Given the description of an element on the screen output the (x, y) to click on. 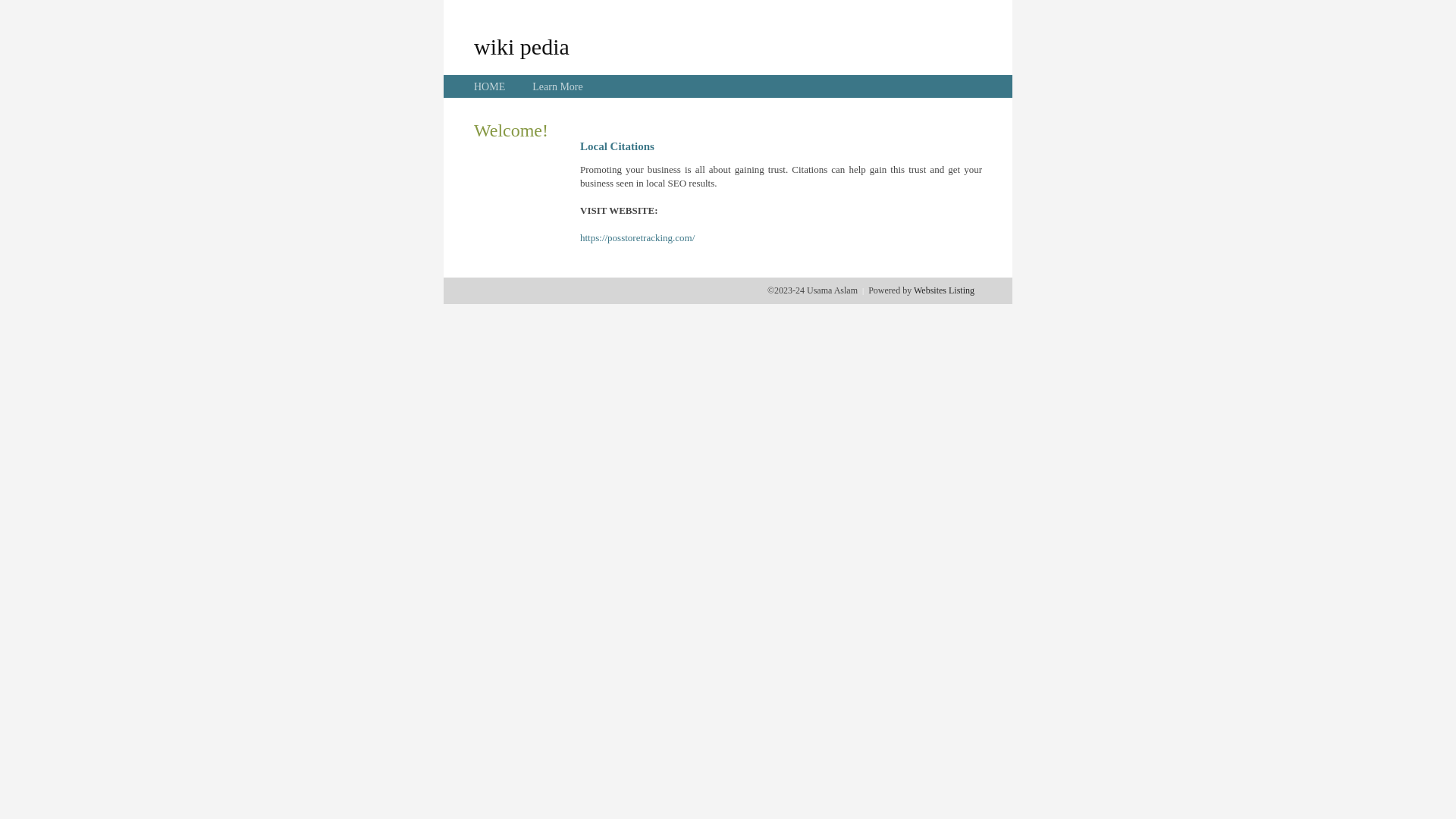
Learn More Element type: text (557, 86)
https://posstoretracking.com/ Element type: text (637, 237)
Websites Listing Element type: text (943, 290)
HOME Element type: text (489, 86)
wiki pedia Element type: text (521, 46)
